Given the description of an element on the screen output the (x, y) to click on. 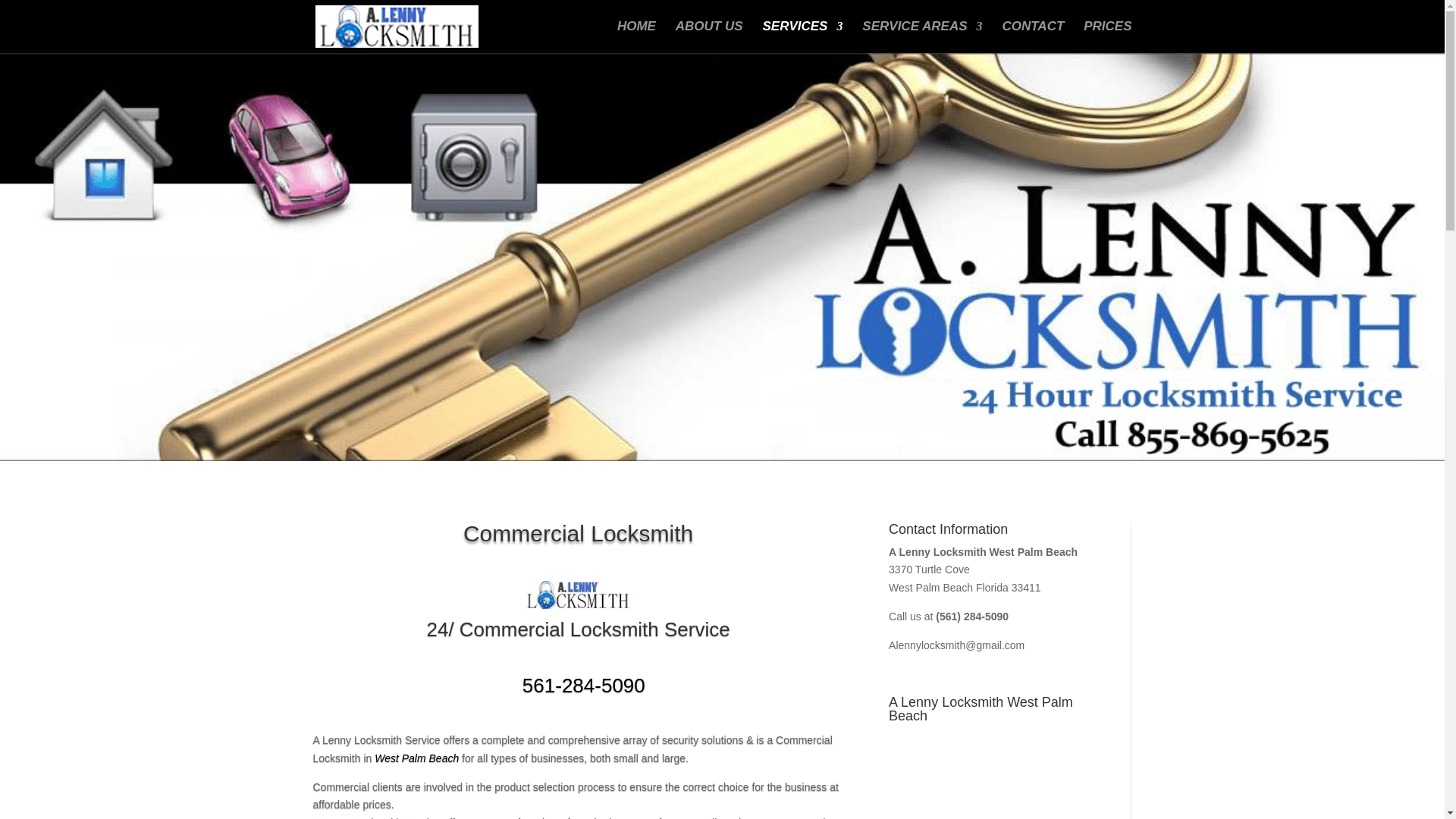
  561-284-5090 (578, 685)
ABOUT US (708, 37)
SERVICE AREAS (921, 37)
CONTACT (1032, 37)
West Palm Beach (416, 758)
PRICES (1107, 37)
SERVICES (802, 37)
HOME (636, 37)
